Given the description of an element on the screen output the (x, y) to click on. 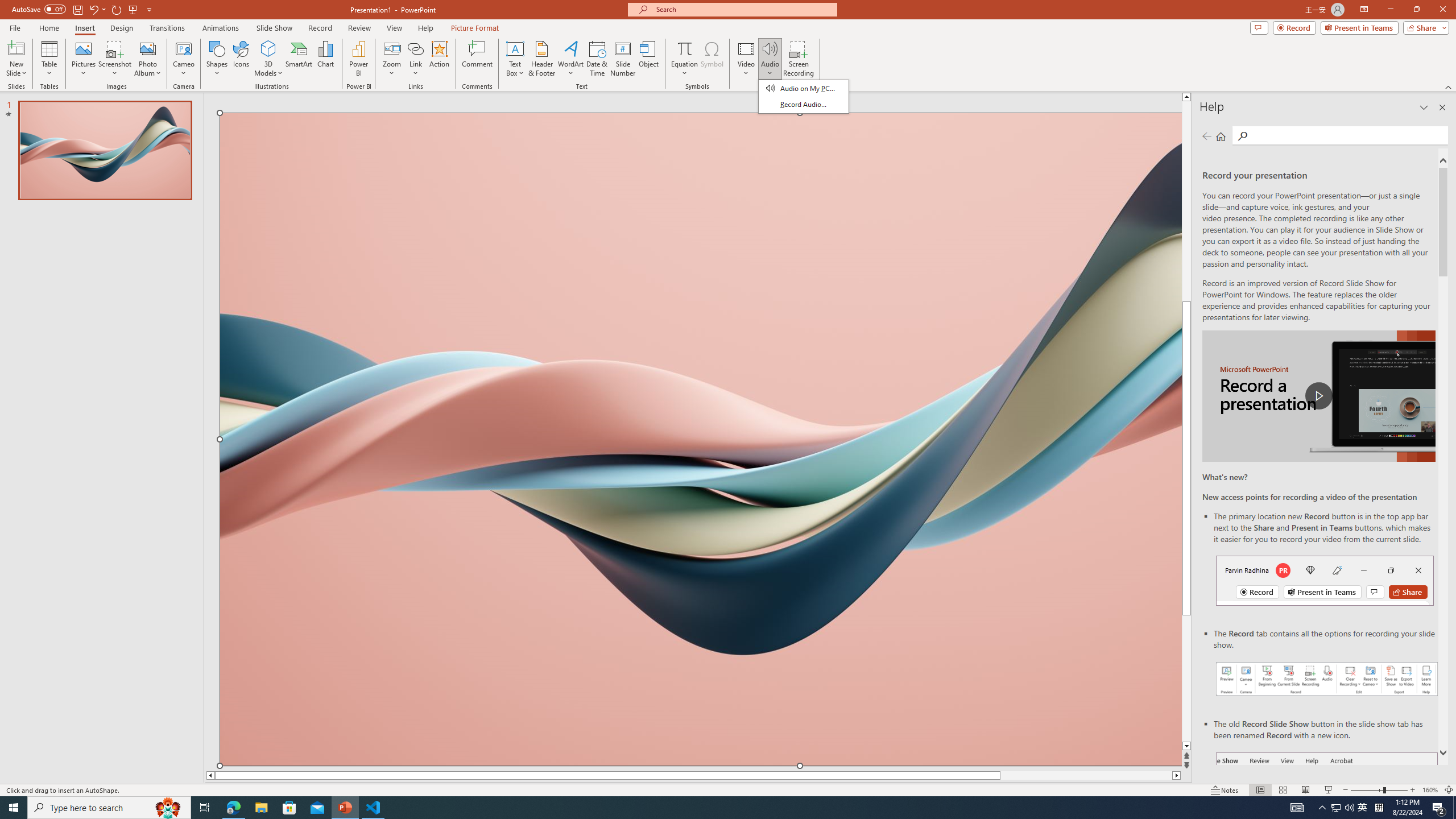
Picture Format (475, 28)
